Given the description of an element on the screen output the (x, y) to click on. 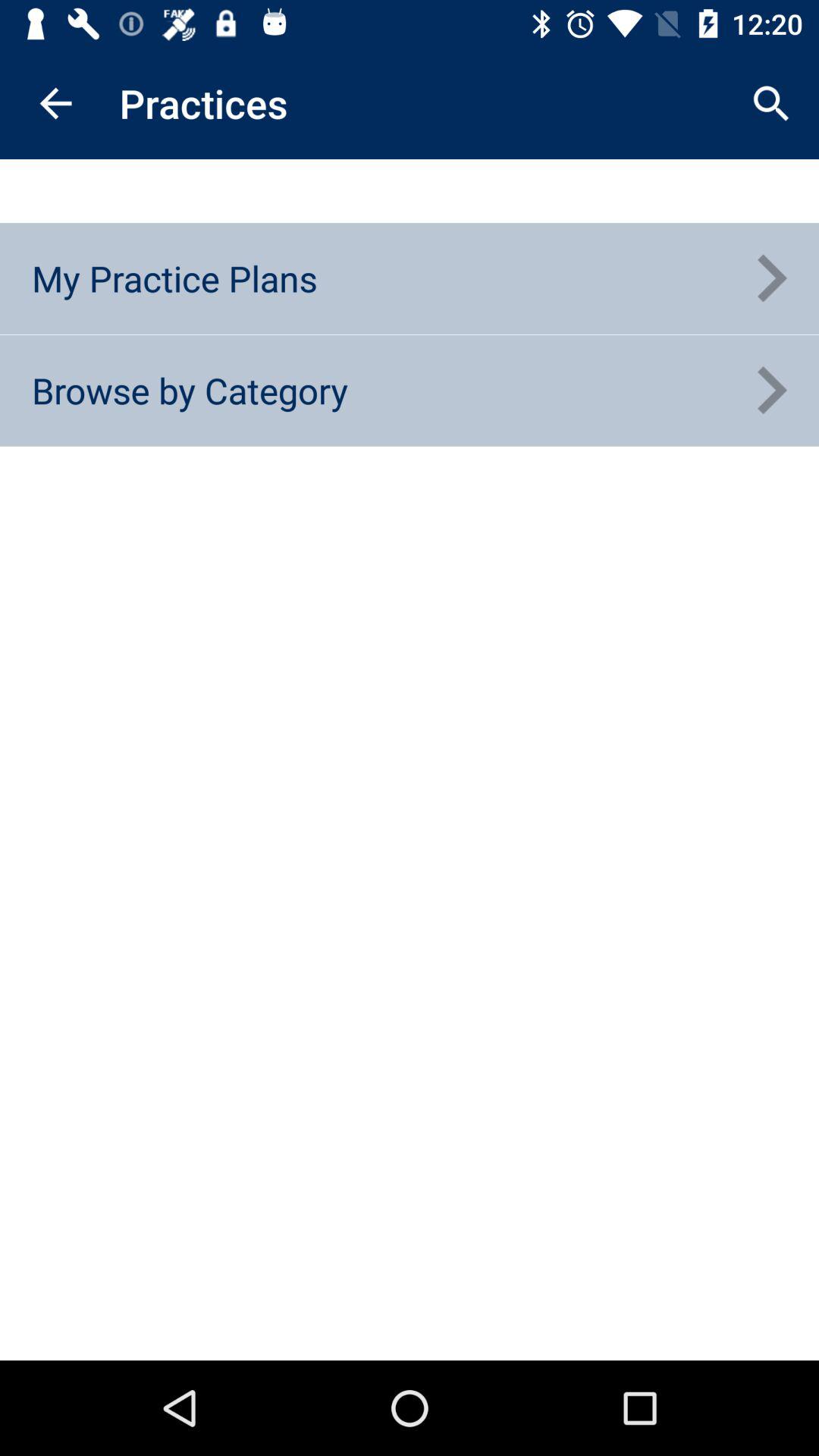
press icon to the right of browse by category item (771, 390)
